Given the description of an element on the screen output the (x, y) to click on. 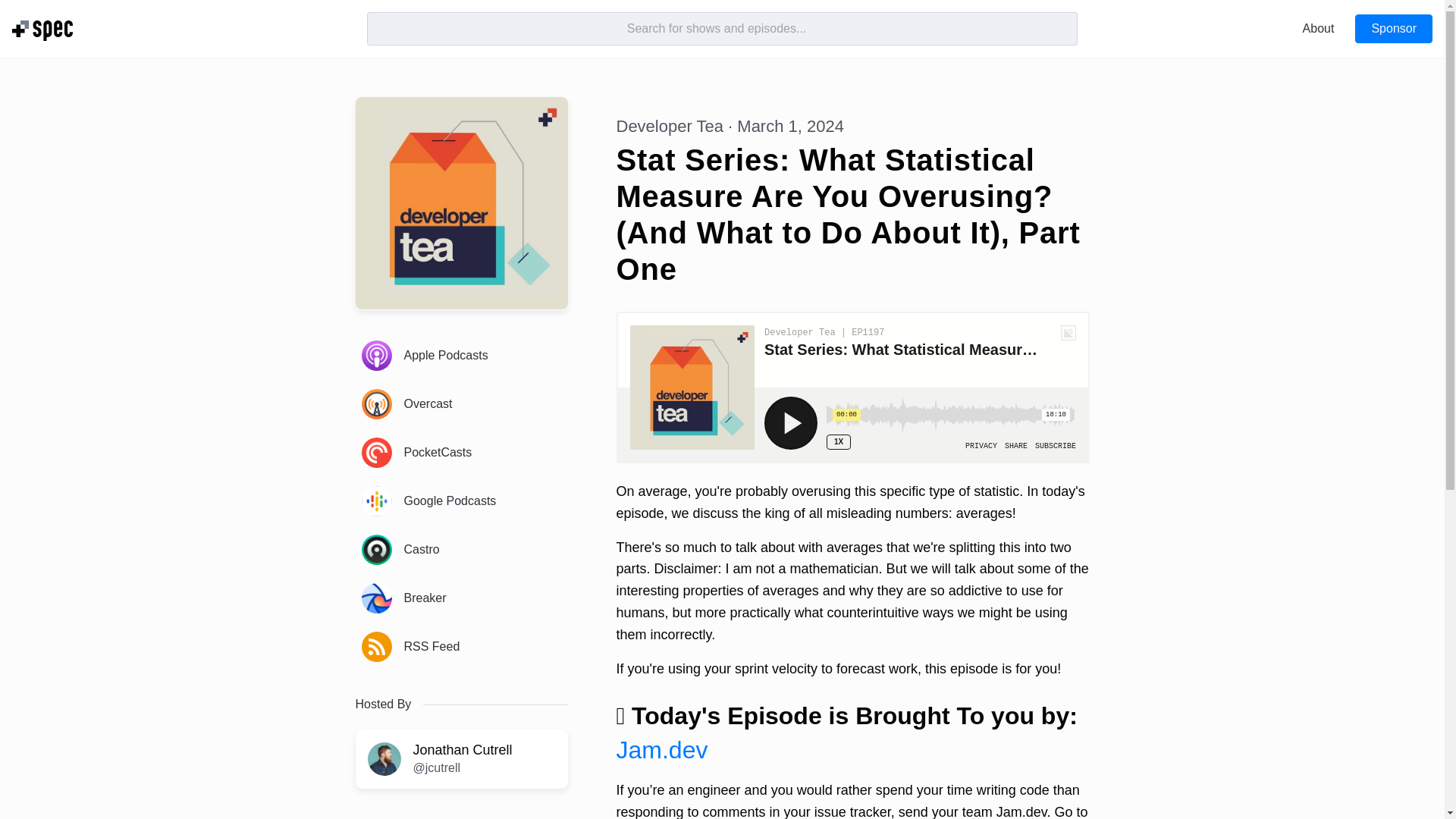
Sponsor (1393, 28)
Apple Podcasts (461, 355)
Developer Tea (668, 126)
Google Podcasts (461, 500)
Castro (461, 549)
RSS Feed (461, 646)
Jam.dev (661, 749)
PocketCasts (461, 452)
About (1318, 28)
Breaker (461, 598)
